Given the description of an element on the screen output the (x, y) to click on. 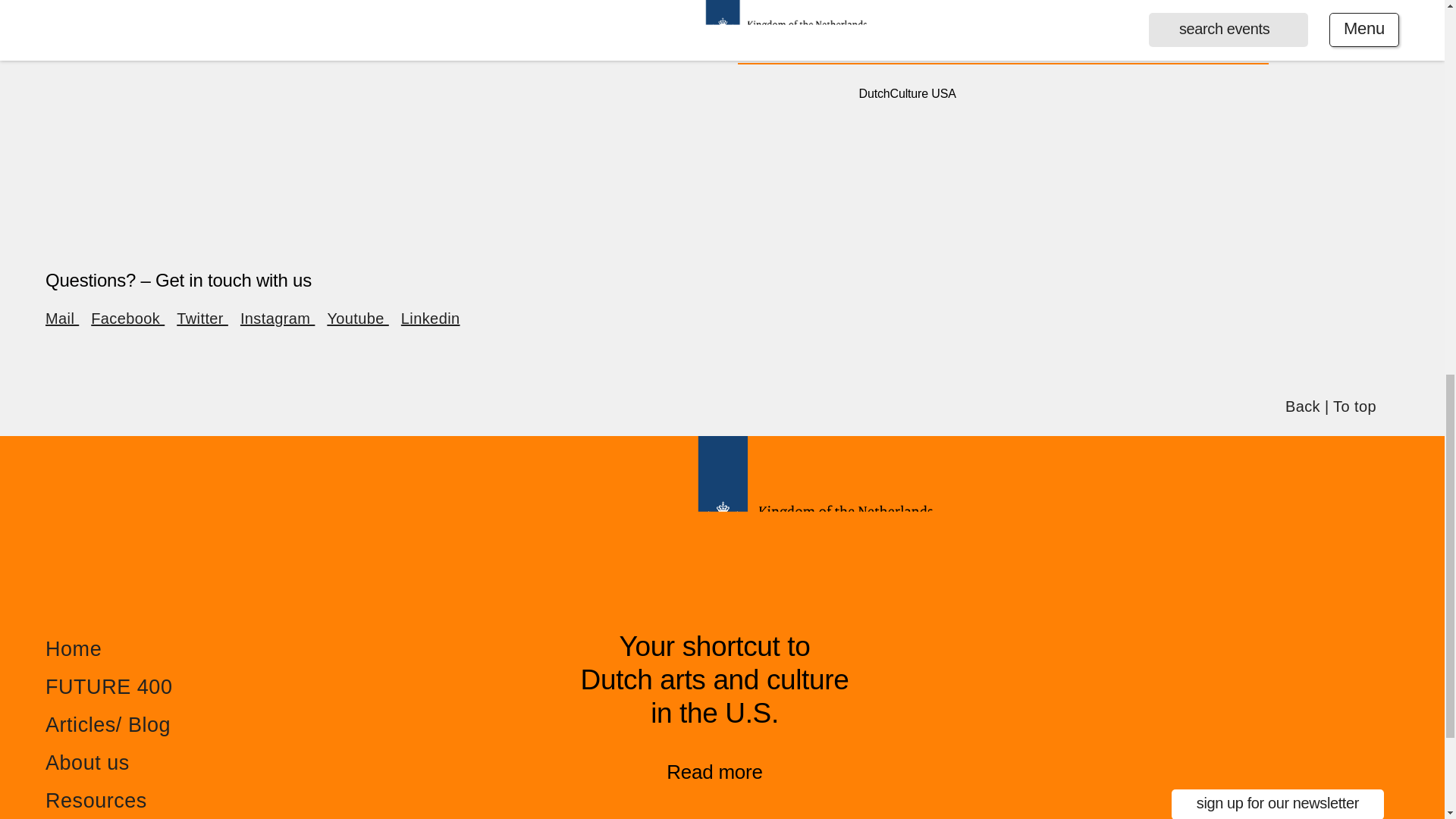
WHATSAPP (1091, 40)
Instagram (277, 318)
LINKEDIN (1015, 40)
Facebook (127, 318)
Youtube (357, 318)
MAIL (1152, 40)
Mail (61, 318)
TWITTER (946, 40)
Linkedin (430, 318)
FACEBOOK (872, 40)
Home (73, 649)
Twitter (202, 318)
